Given the description of an element on the screen output the (x, y) to click on. 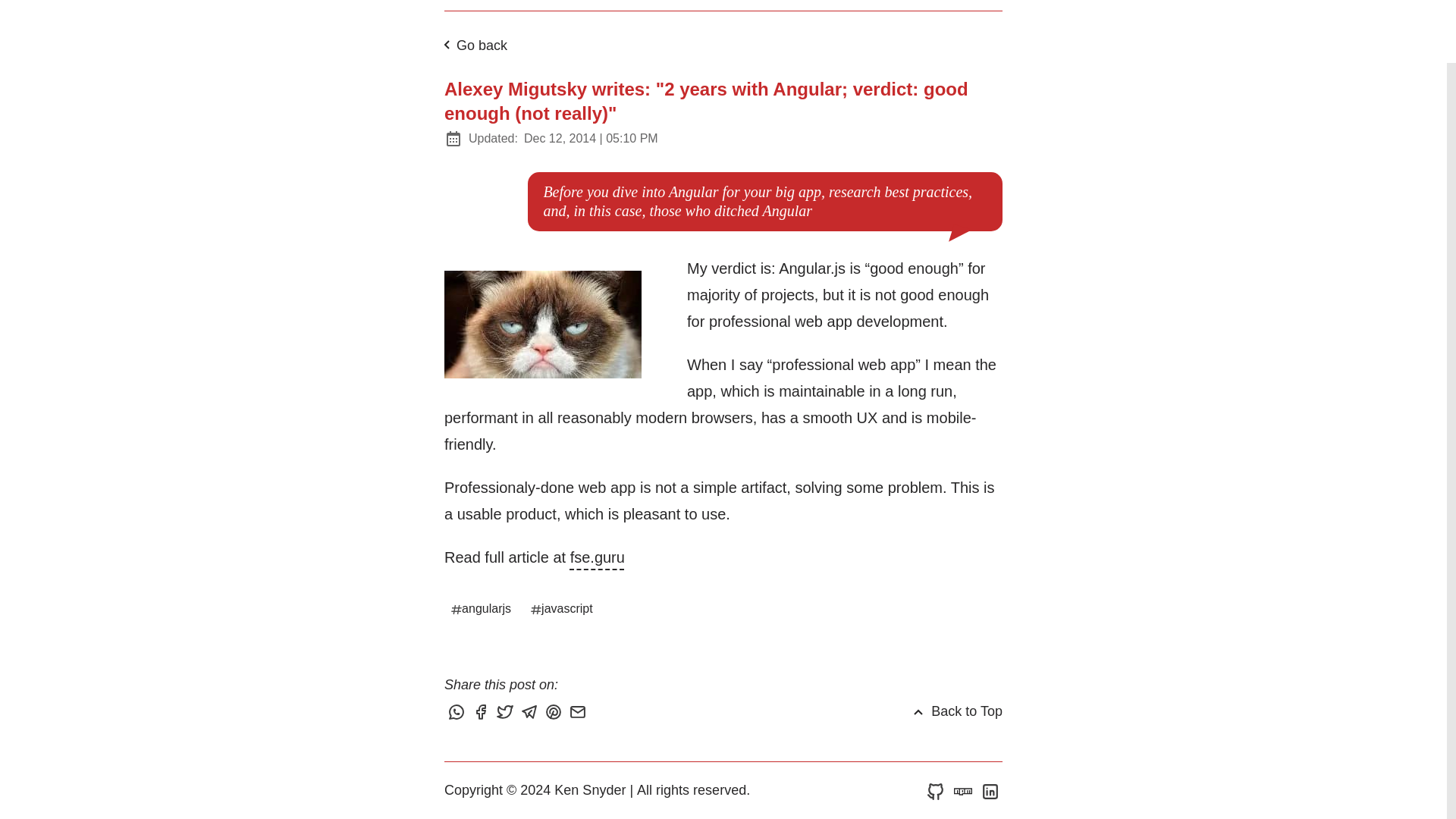
Ken Snyder on GitHub (935, 790)
Share this post on Pinterest (555, 713)
Share this post on Pinterest (555, 713)
Share this post via WhatsApp (457, 713)
Ken Snyder on npm (962, 790)
Go back (472, 46)
Tweet this post (506, 713)
fse.guru (597, 556)
Share this post via WhatsApp (457, 713)
Ken Snyder on npm (962, 790)
